Given the description of an element on the screen output the (x, y) to click on. 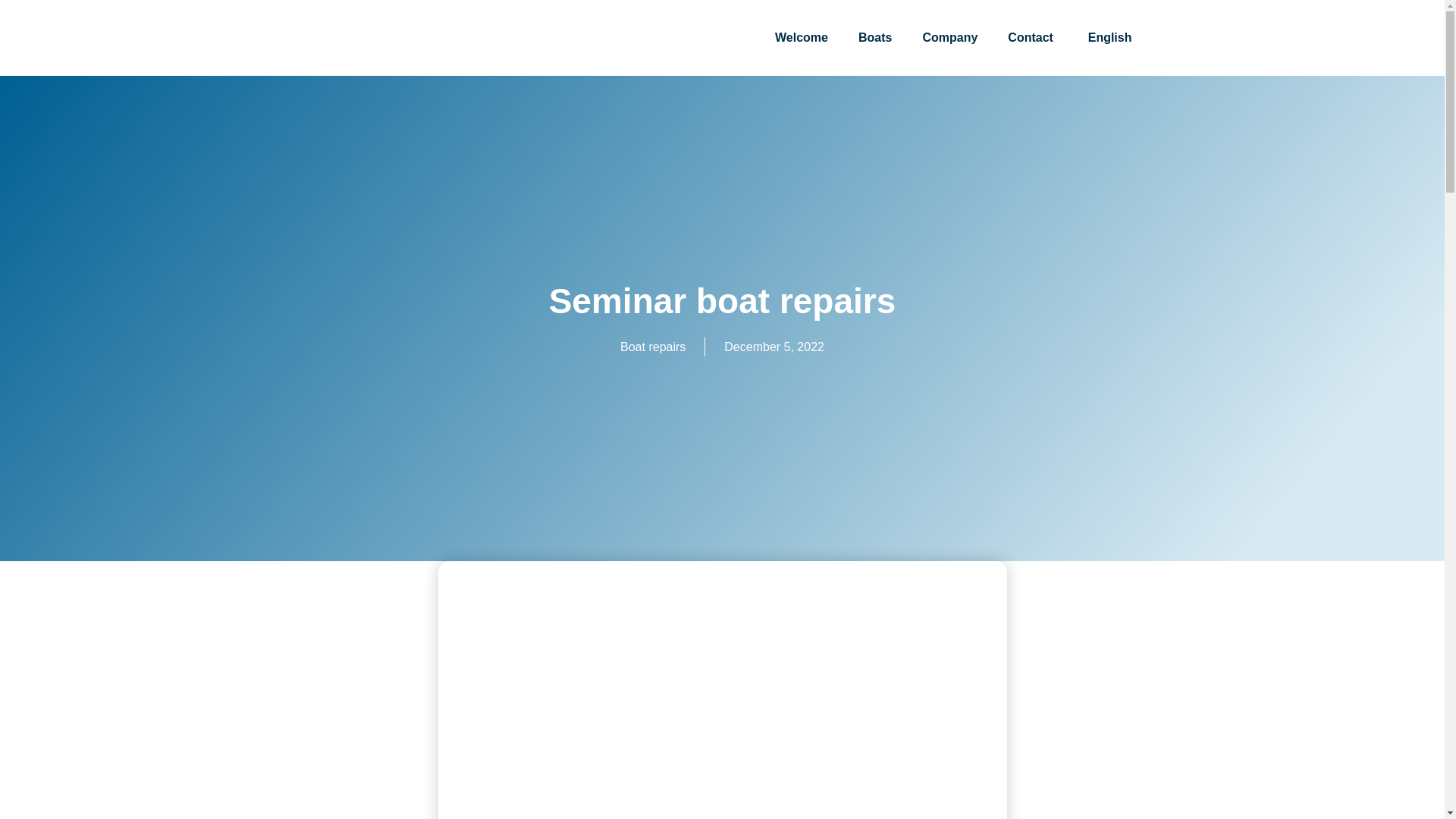
English (1107, 37)
Company (949, 37)
Welcome (801, 37)
English (1107, 37)
Boats (875, 37)
Contact (1030, 37)
December 5, 2022 (773, 347)
